Given the description of an element on the screen output the (x, y) to click on. 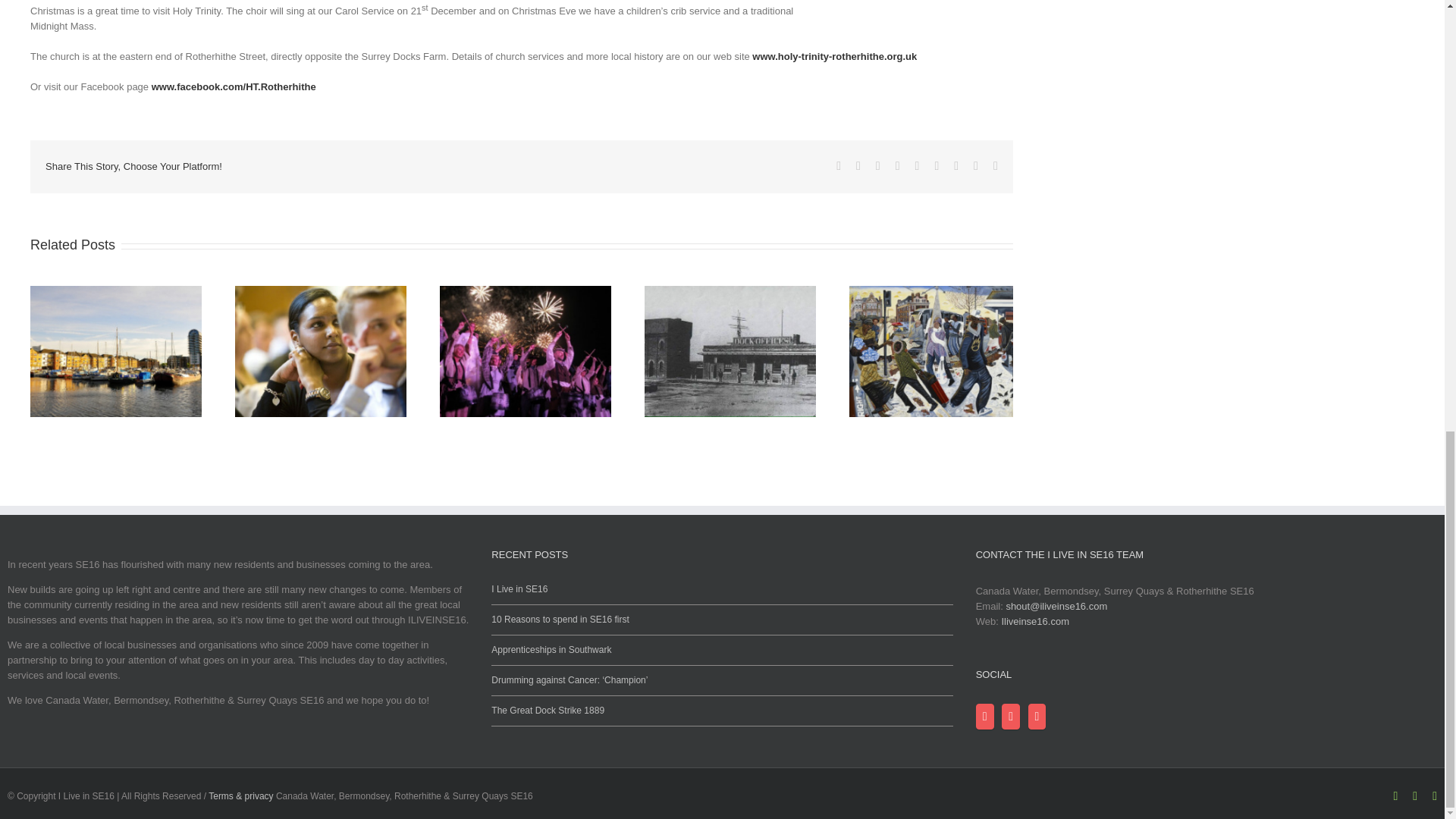
Holy Trinity Rotherhithe (834, 56)
Holy Trinity Rotherhithe (233, 86)
